Given the description of an element on the screen output the (x, y) to click on. 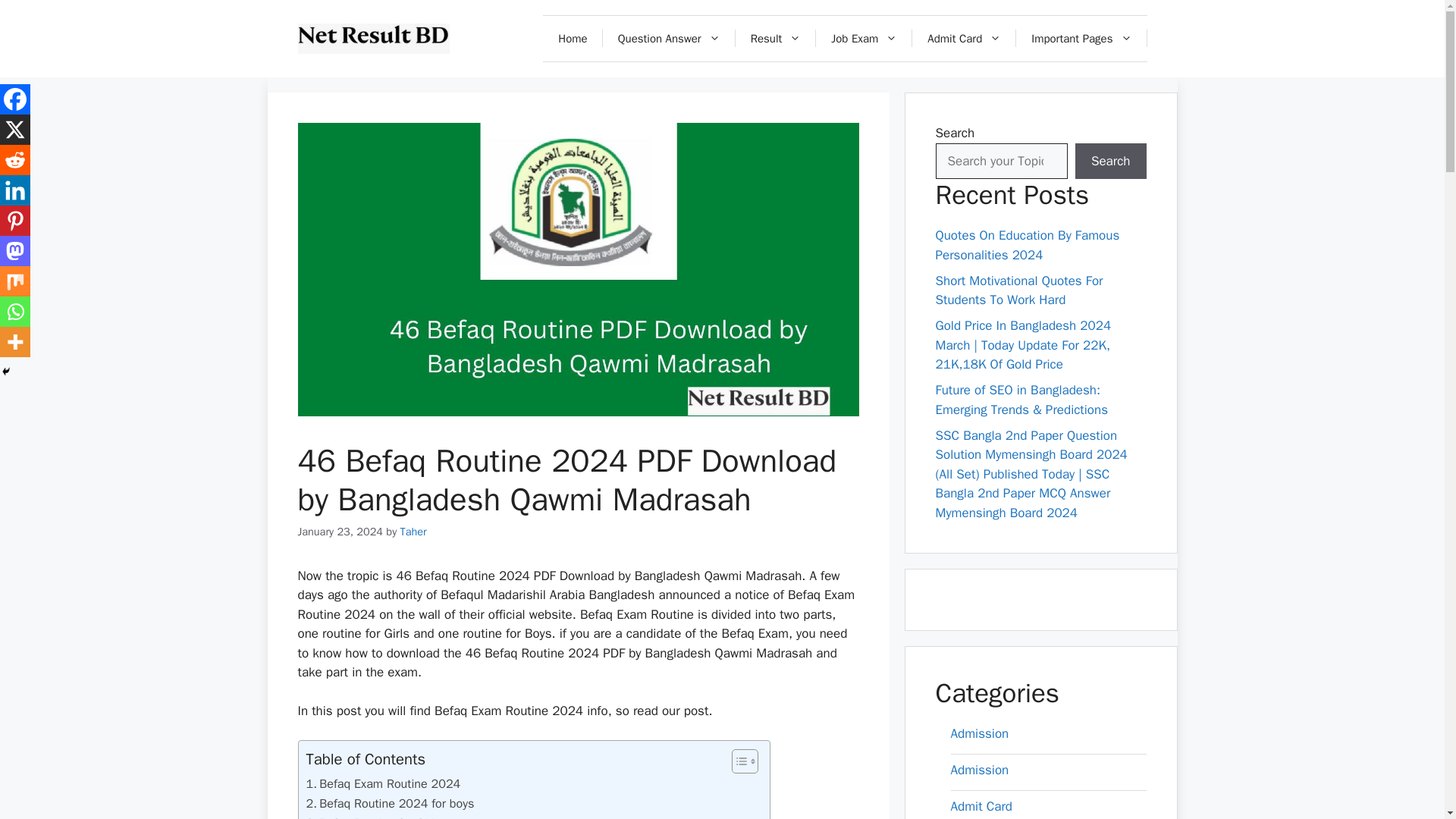
Home (572, 38)
Job Exam (863, 38)
Question Answer (668, 38)
Result (775, 38)
Admit Card (964, 38)
Befaq Routine for Girls (373, 816)
Taher (413, 531)
View all posts by Taher (413, 531)
Befaq Routine 2024 for boys (389, 803)
Befaq Exam Routine 2024 (383, 783)
Befaq Exam Routine 2024 (383, 783)
Befaq Routine 2024 for boys (389, 803)
Important Pages (1081, 38)
Befaq Routine for Girls (373, 816)
